Given the description of an element on the screen output the (x, y) to click on. 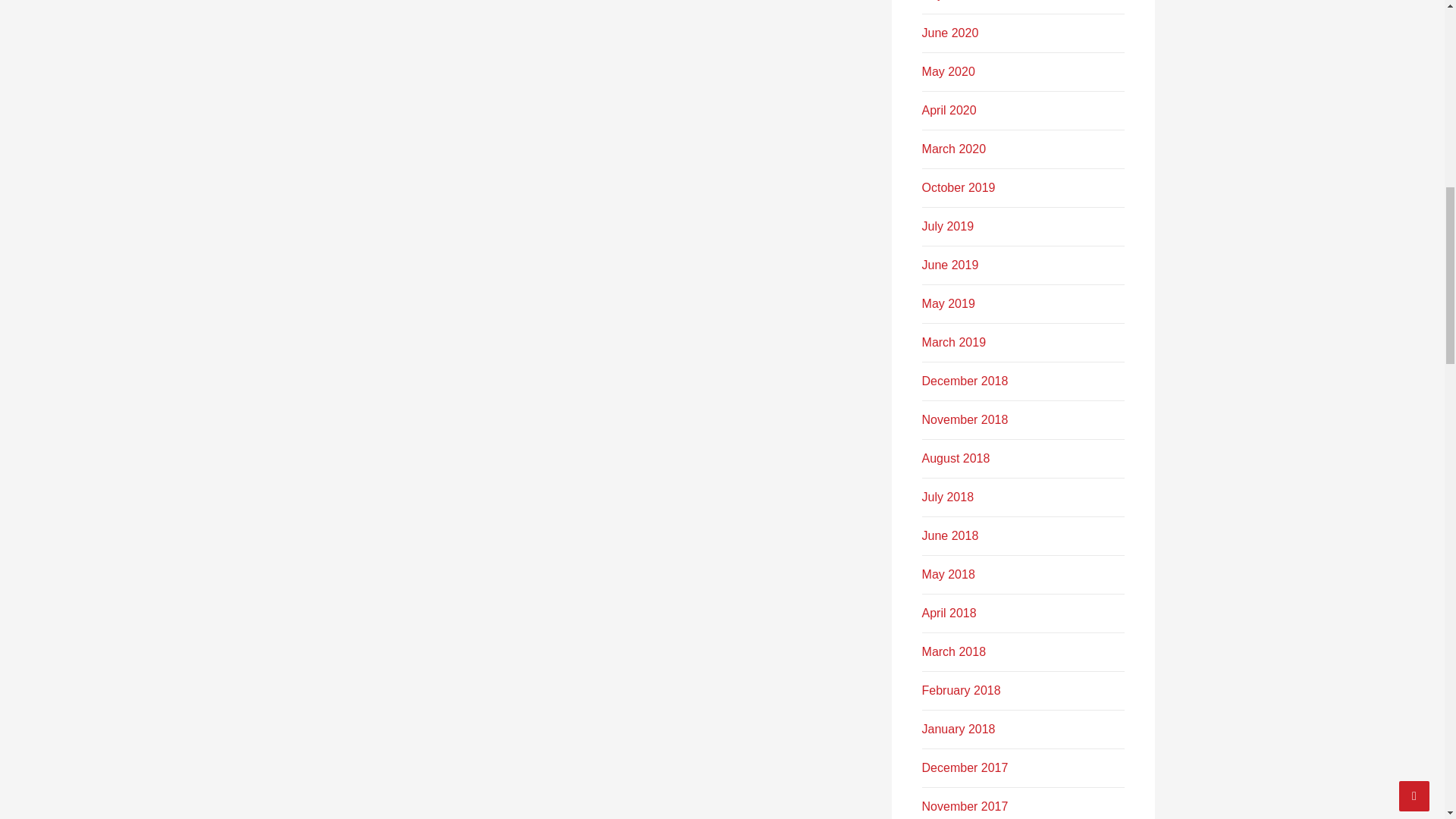
May 2019 (948, 303)
November 2018 (965, 419)
May 2020 (948, 71)
July 2018 (947, 496)
June 2020 (949, 32)
December 2018 (965, 380)
July 2020 (947, 0)
April 2020 (948, 110)
March 2020 (954, 148)
July 2019 (947, 226)
October 2019 (958, 187)
June 2019 (949, 264)
June 2018 (949, 535)
August 2018 (955, 458)
March 2019 (954, 341)
